Given the description of an element on the screen output the (x, y) to click on. 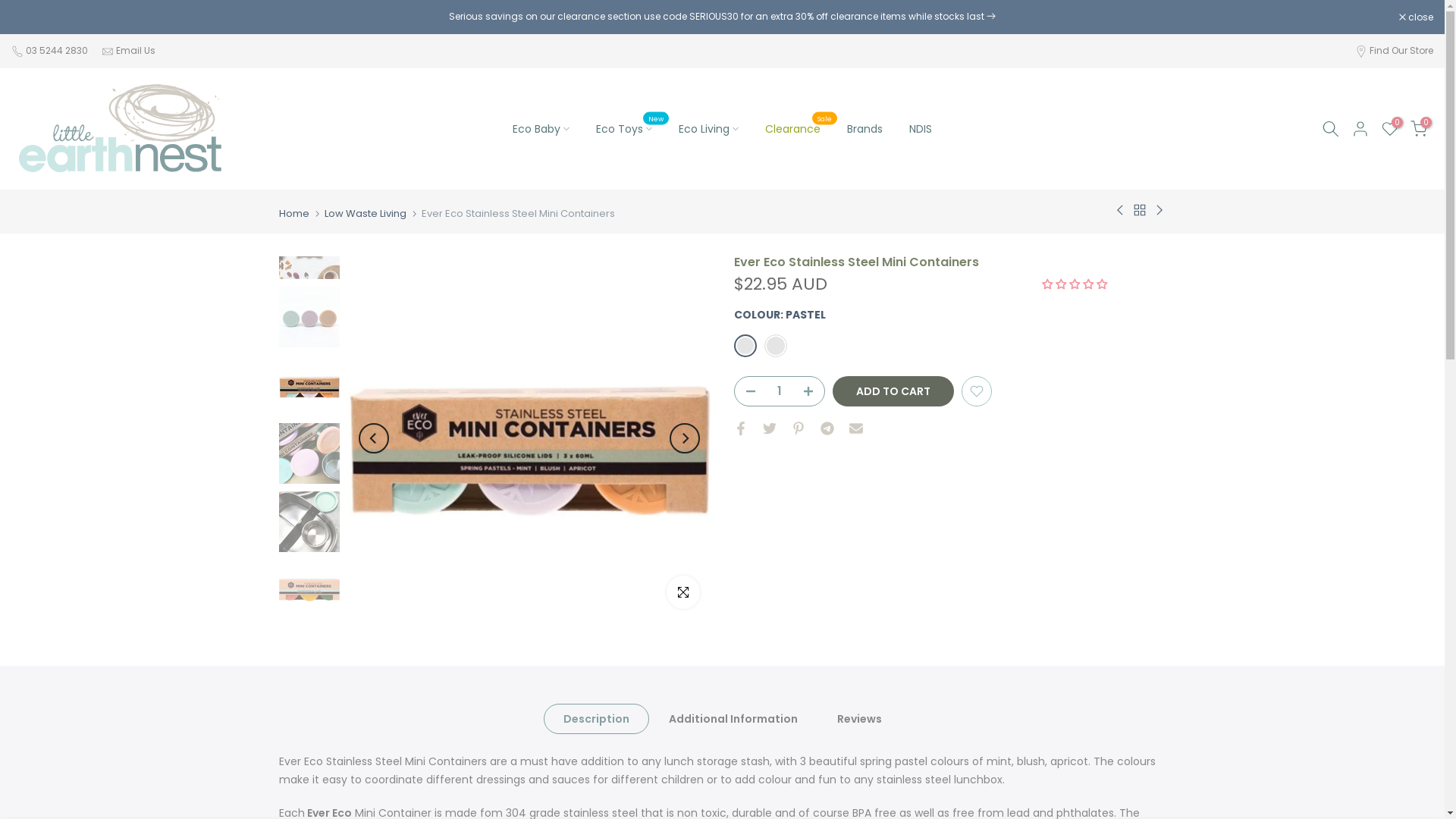
Brands Element type: text (864, 128)
Eco Living Element type: text (708, 128)
Email Us Element type: text (135, 50)
Description Element type: text (595, 718)
Additional Information Element type: text (733, 718)
Home Element type: text (294, 213)
0 Element type: text (1389, 128)
close Element type: text (1416, 16)
Share on Pinterest Element type: hover (798, 428)
Reviews Element type: text (859, 718)
Share on Twitter Element type: hover (769, 428)
Clearance
Sale Element type: text (792, 128)
Eco Baby Element type: text (540, 128)
NDIS Element type: text (919, 128)
Share on Facebook Element type: hover (740, 428)
Find Our Store Element type: text (1401, 49)
0 Element type: text (1418, 128)
Eco Toys
New Element type: text (623, 128)
Share on Email Element type: hover (855, 428)
ADD TO CART Element type: text (892, 391)
03 5244 2830 Element type: text (57, 50)
Share on Telegram Element type: hover (827, 428)
Low Waste Living Element type: text (365, 213)
